Given the description of an element on the screen output the (x, y) to click on. 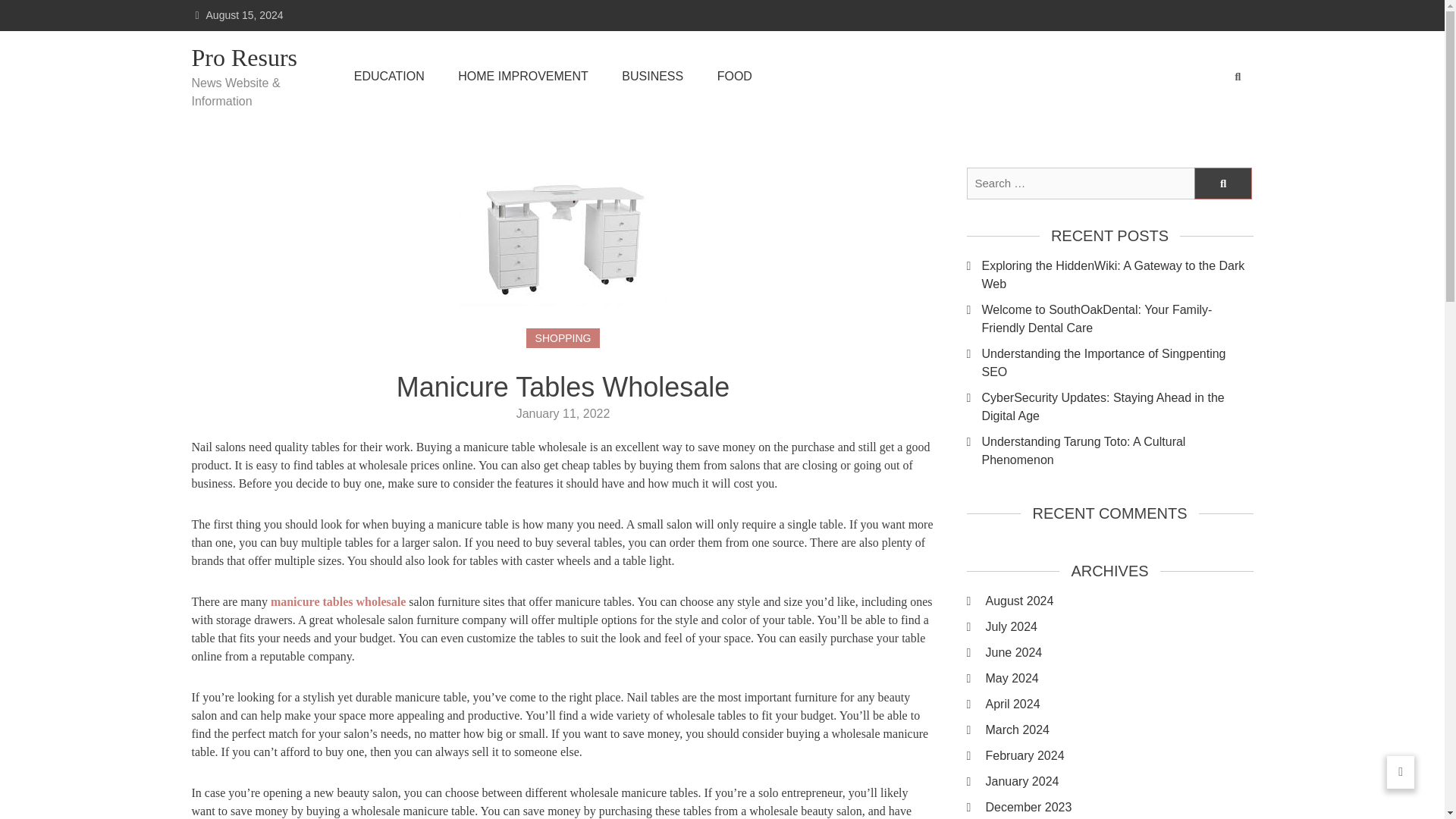
January 11, 2022 (563, 413)
Understanding Tarung Toto: A Cultural Phenomenon (1116, 451)
CyberSecurity Updates: Staying Ahead in the Digital Age (1116, 407)
June 2024 (1119, 652)
FOOD (734, 76)
Pro Resurs (252, 58)
EDUCATION (389, 76)
April 2024 (1119, 704)
March 2024 (1119, 730)
Exploring the HiddenWiki: A Gateway to the Dark Web (1116, 275)
